Given the description of an element on the screen output the (x, y) to click on. 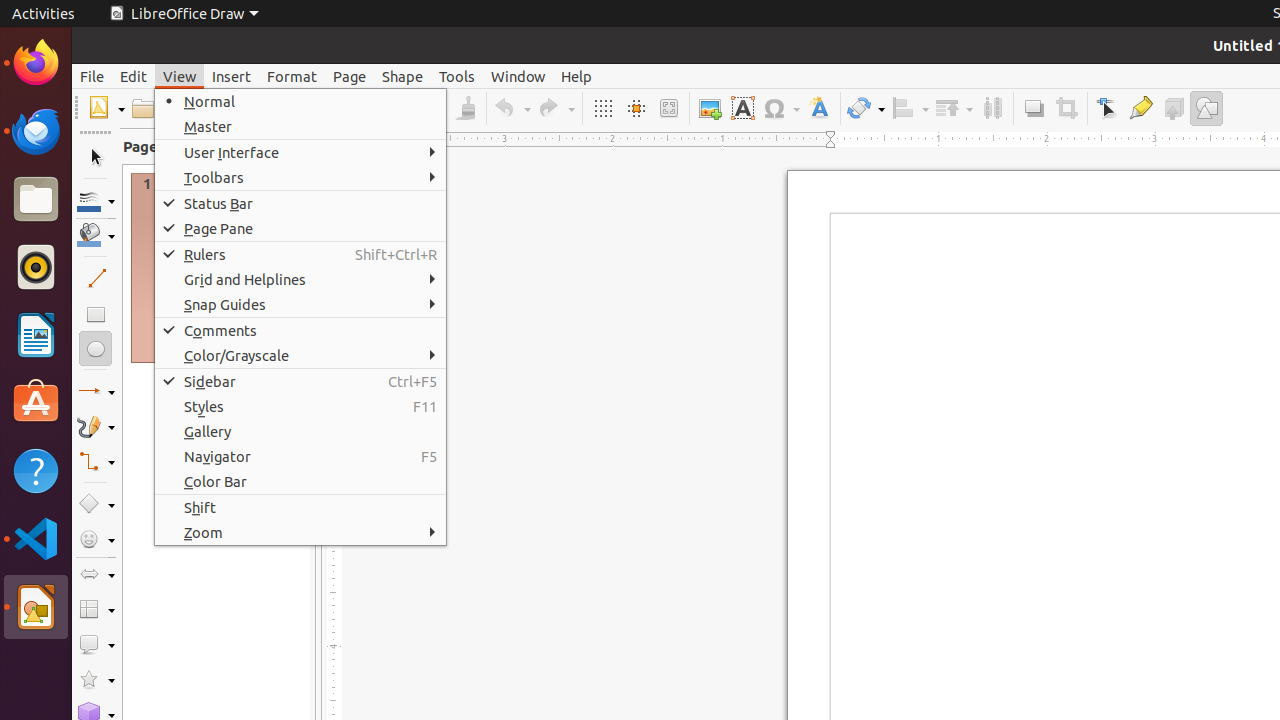
Image Element type: push-button (709, 108)
